Given the description of an element on the screen output the (x, y) to click on. 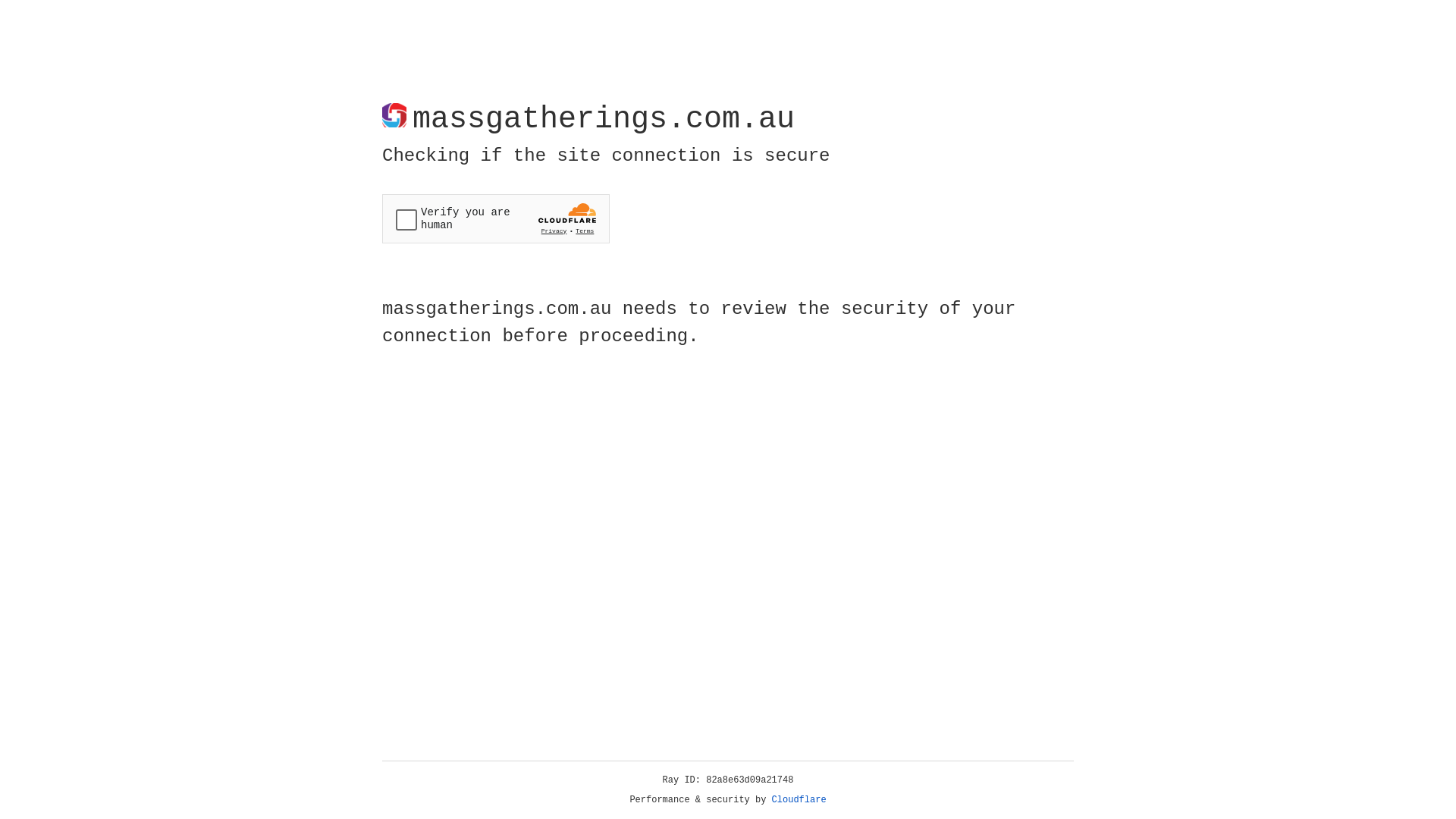
Cloudflare Element type: text (798, 799)
Widget containing a Cloudflare security challenge Element type: hover (495, 218)
